Given the description of an element on the screen output the (x, y) to click on. 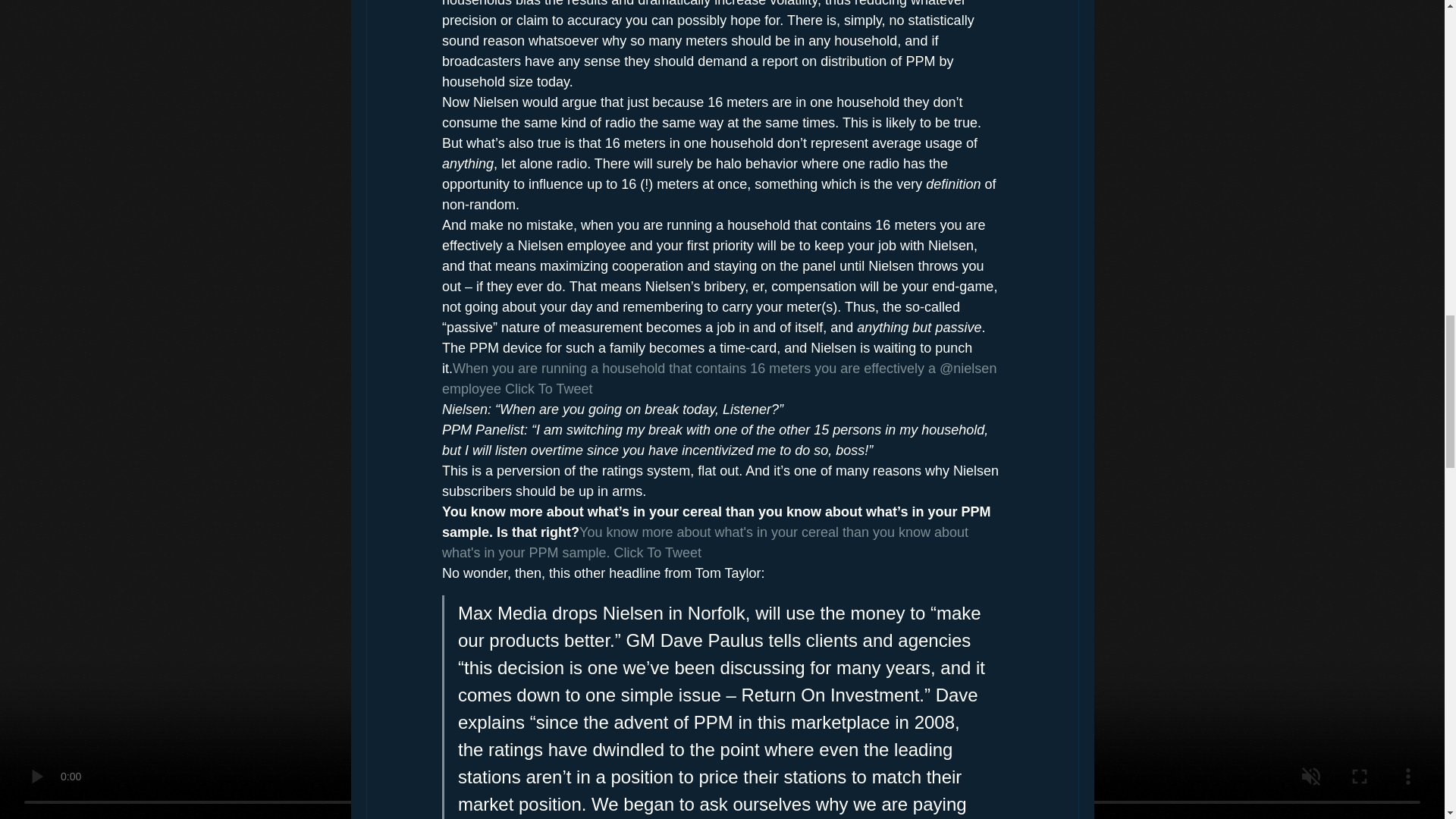
Click To Tweet (656, 552)
Click To Tweet (548, 388)
